Given the description of an element on the screen output the (x, y) to click on. 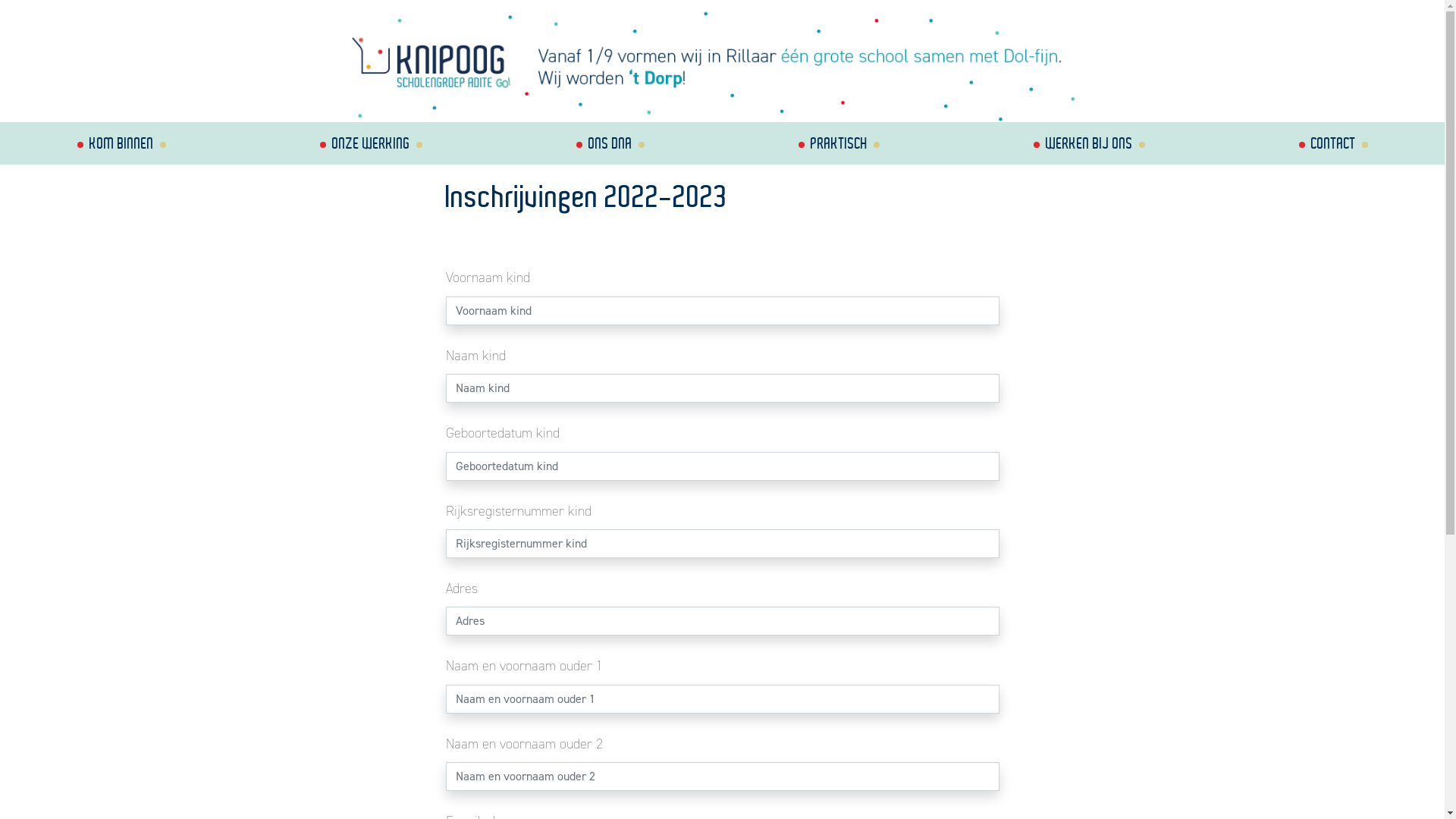
ONZE WERKING Element type: text (370, 143)
KOM BINNEN Element type: text (121, 143)
WERKEN BIJ ONS Element type: text (1088, 143)
PRAKTISCH Element type: text (838, 143)
ONS DNA Element type: text (609, 143)
CONTACT Element type: text (1332, 143)
